Given the description of an element on the screen output the (x, y) to click on. 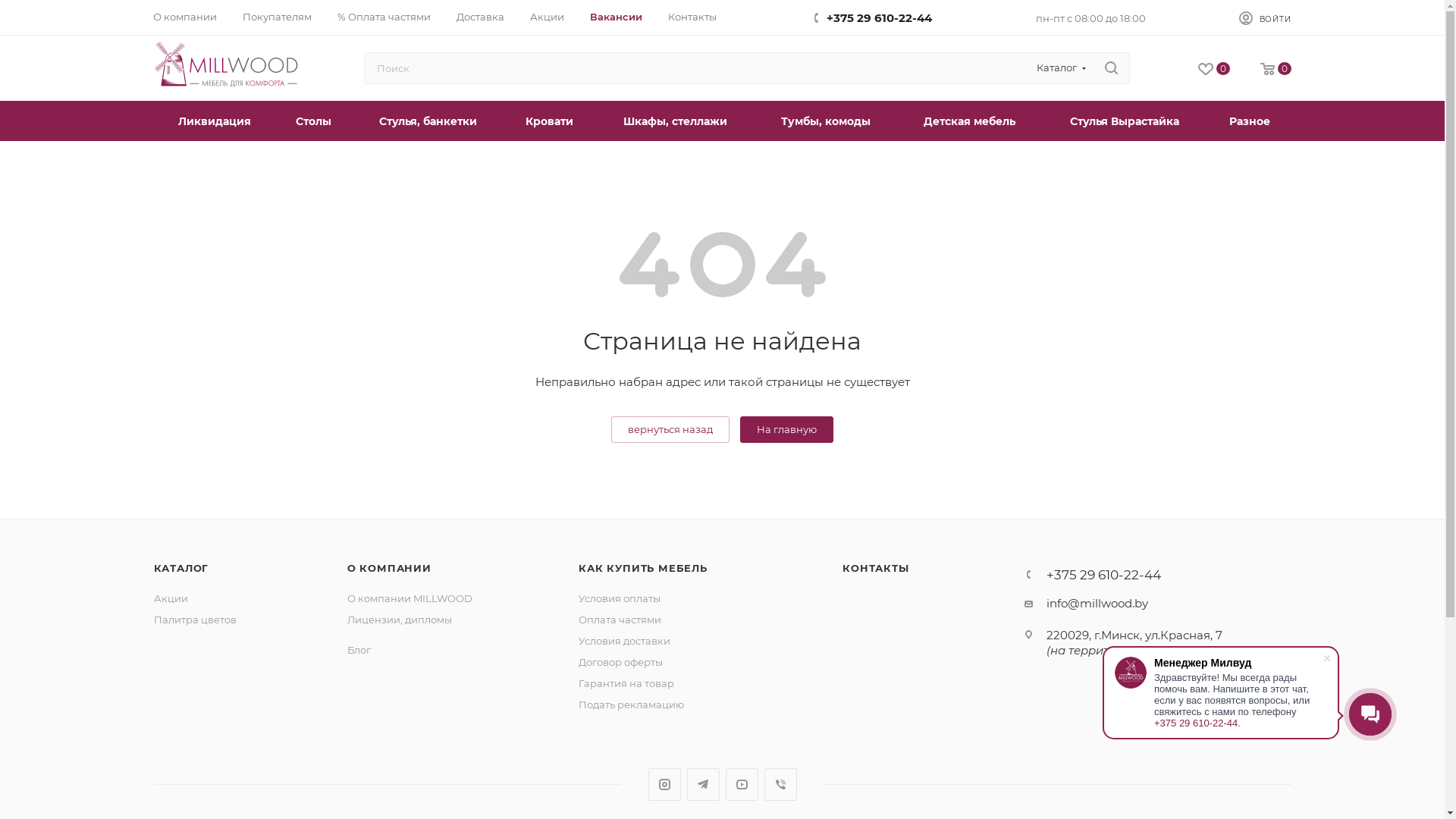
Viber Element type: text (780, 784)
0 Element type: text (1214, 69)
Instagram Element type: text (663, 784)
Telegram Element type: text (703, 784)
+375 29 610-22-44 Element type: text (1103, 573)
+375 29 610-22-44 Element type: text (878, 17)
YouTube Element type: text (740, 784)
+375 29 610-22-44 Element type: text (1195, 722)
0 Element type: text (1275, 69)
info@millwood.by Element type: text (1097, 603)
